Given the description of an element on the screen output the (x, y) to click on. 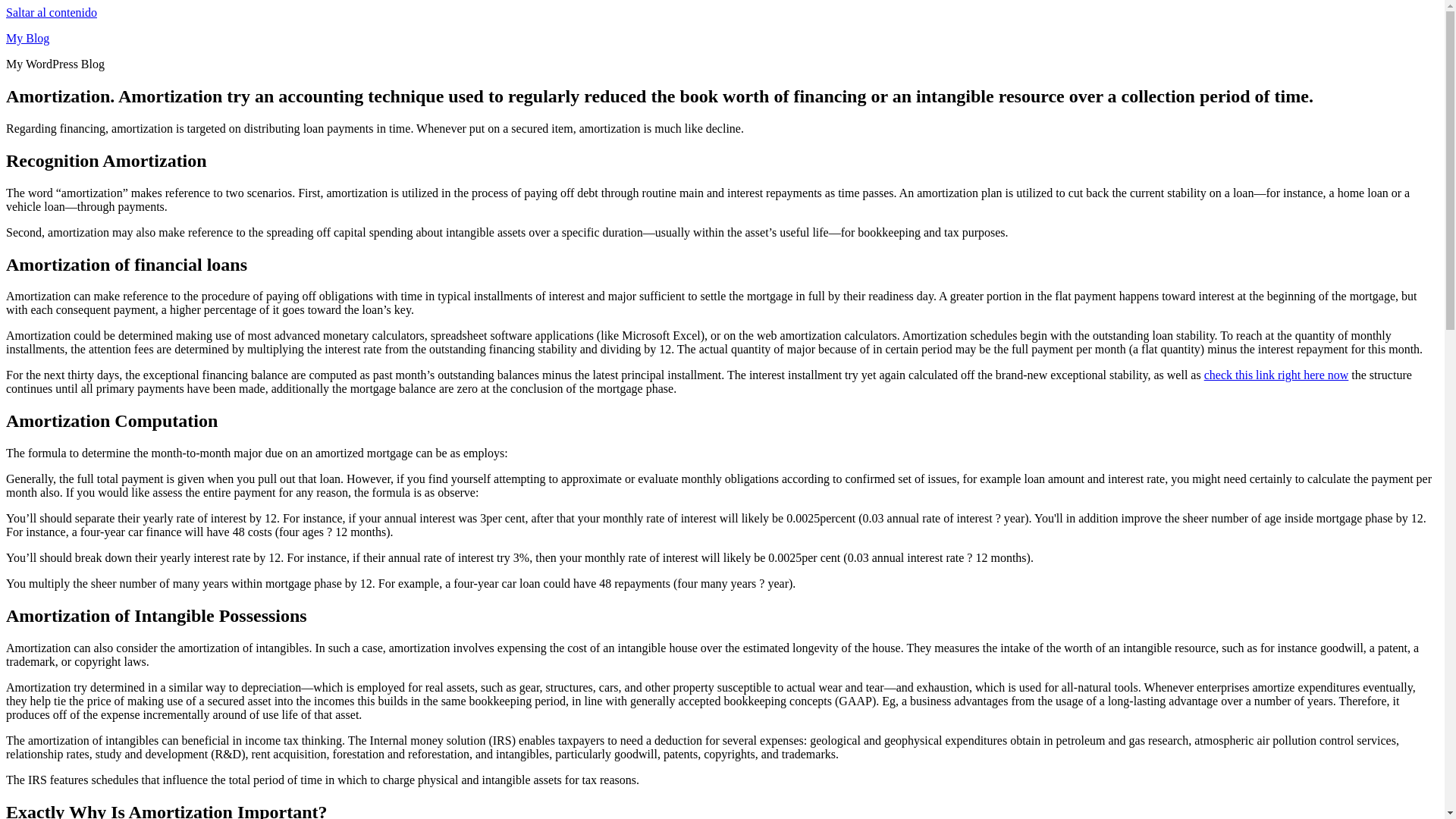
check this link right here now (1276, 374)
My Blog (27, 38)
Saltar al contenido (51, 11)
